Given the description of an element on the screen output the (x, y) to click on. 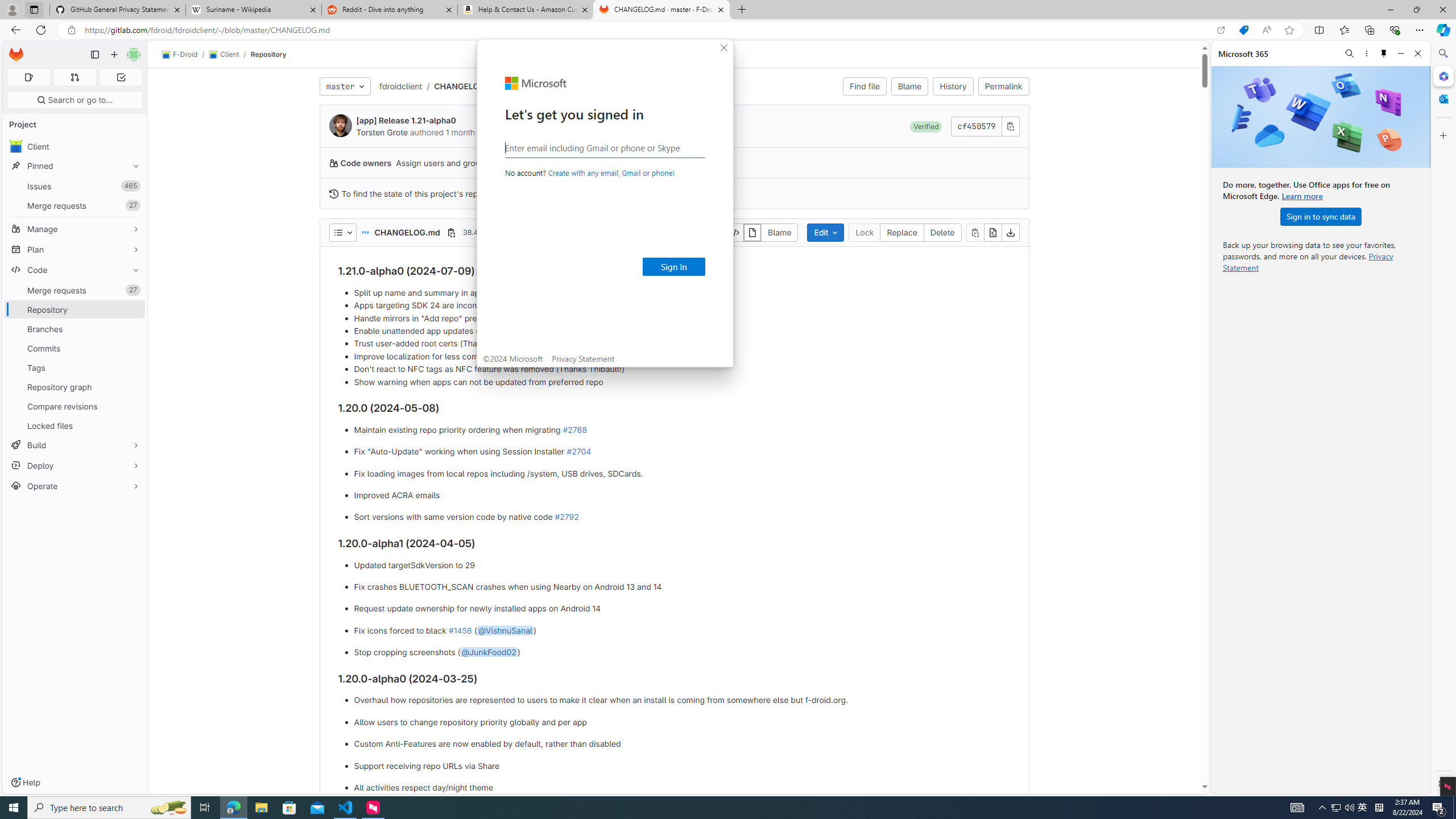
Pin Repository (132, 309)
Client/ (229, 54)
Pin Commits (132, 348)
@JunkFood02 (488, 652)
Operate (74, 485)
fdroidclient (400, 85)
Search highlights icon opens search home window (167, 807)
Find file (864, 85)
Primary navigation sidebar (94, 54)
avatar Client (74, 145)
Microsoft Store (289, 807)
